Given the description of an element on the screen output the (x, y) to click on. 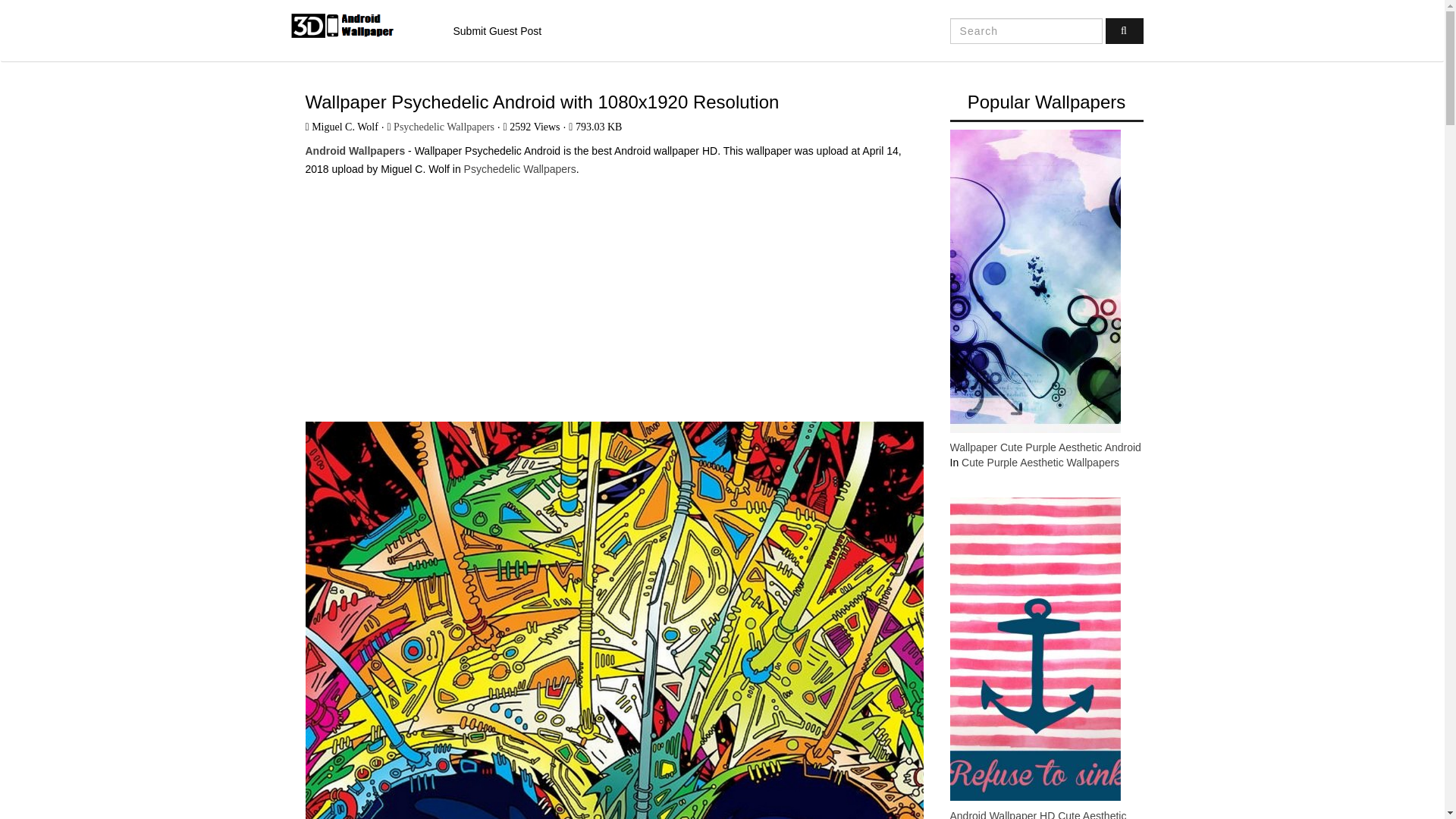
Android Wallpapers (359, 25)
Submit Guest Post (497, 30)
Psychedelic Wallpapers (520, 168)
Advertisement (613, 292)
Android Wallpapers (354, 150)
Psychedelic Wallpapers (444, 126)
Submit Guest Post (497, 30)
Search for: (1026, 31)
